Given the description of an element on the screen output the (x, y) to click on. 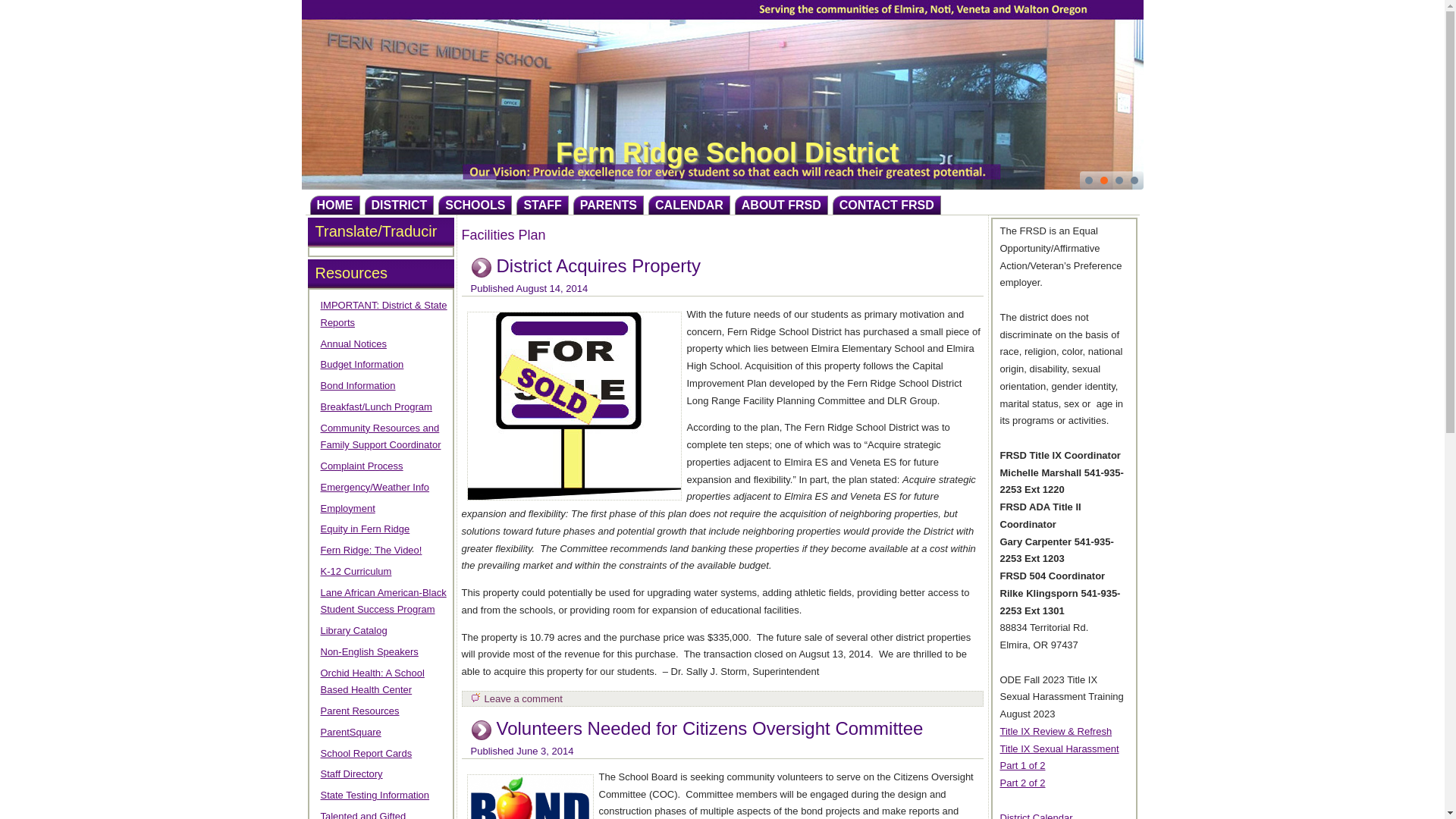
Schools (475, 204)
SCHOOLS (475, 204)
STAFF (541, 204)
HOME (333, 204)
PARENTS (608, 204)
Fern Ridge School District (727, 152)
District (398, 204)
DISTRICT (398, 204)
Home (333, 204)
